Given the description of an element on the screen output the (x, y) to click on. 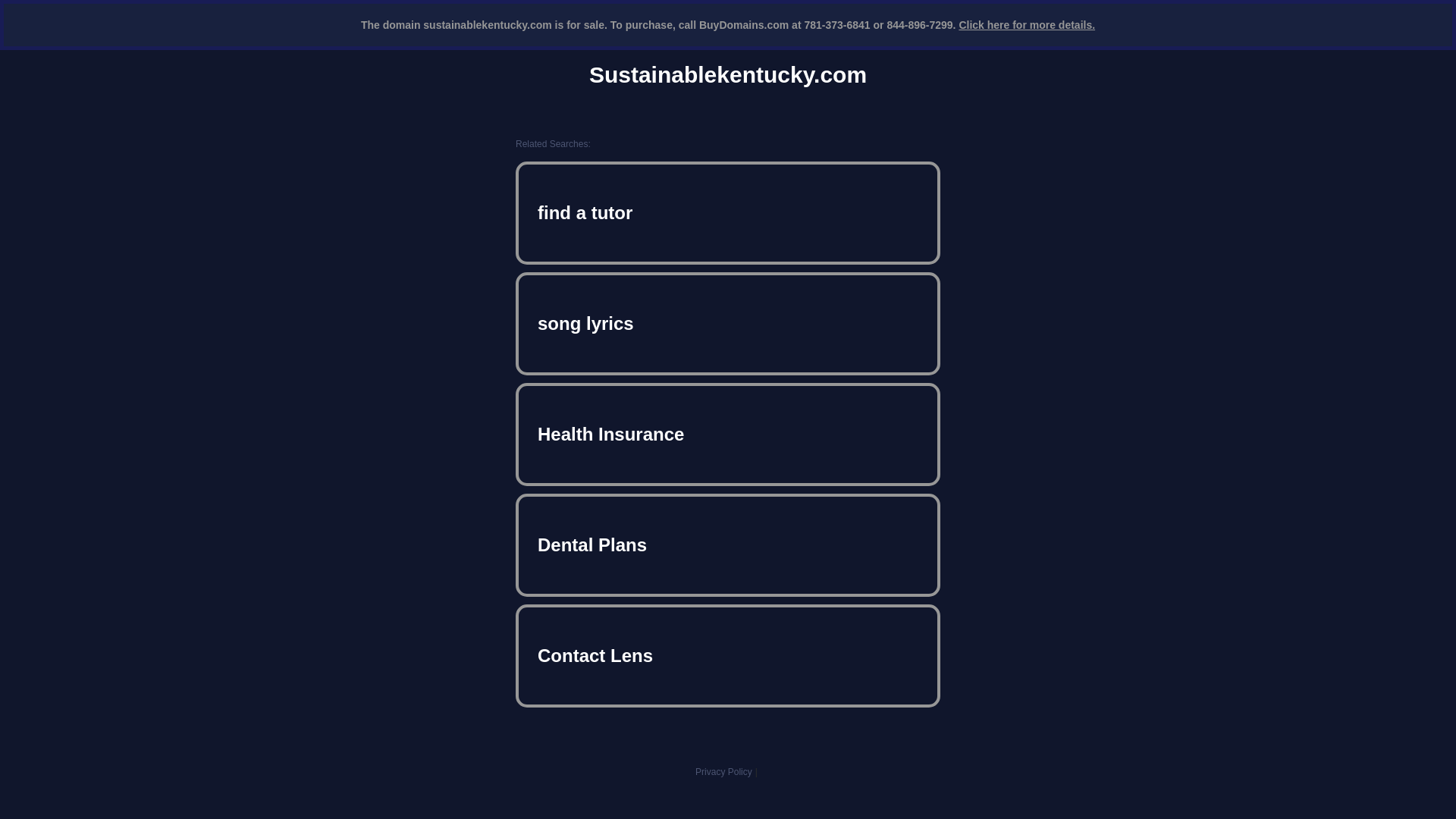
Dental Plans (727, 544)
song lyrics (727, 323)
find a tutor (727, 212)
Sustainablekentucky.com (727, 74)
Contact Lens (727, 655)
Contact Lens (727, 655)
find a tutor (727, 212)
Dental Plans (727, 544)
Privacy Policy (723, 771)
song lyrics (727, 323)
Health Insurance (727, 434)
Health Insurance (727, 434)
